Given the description of an element on the screen output the (x, y) to click on. 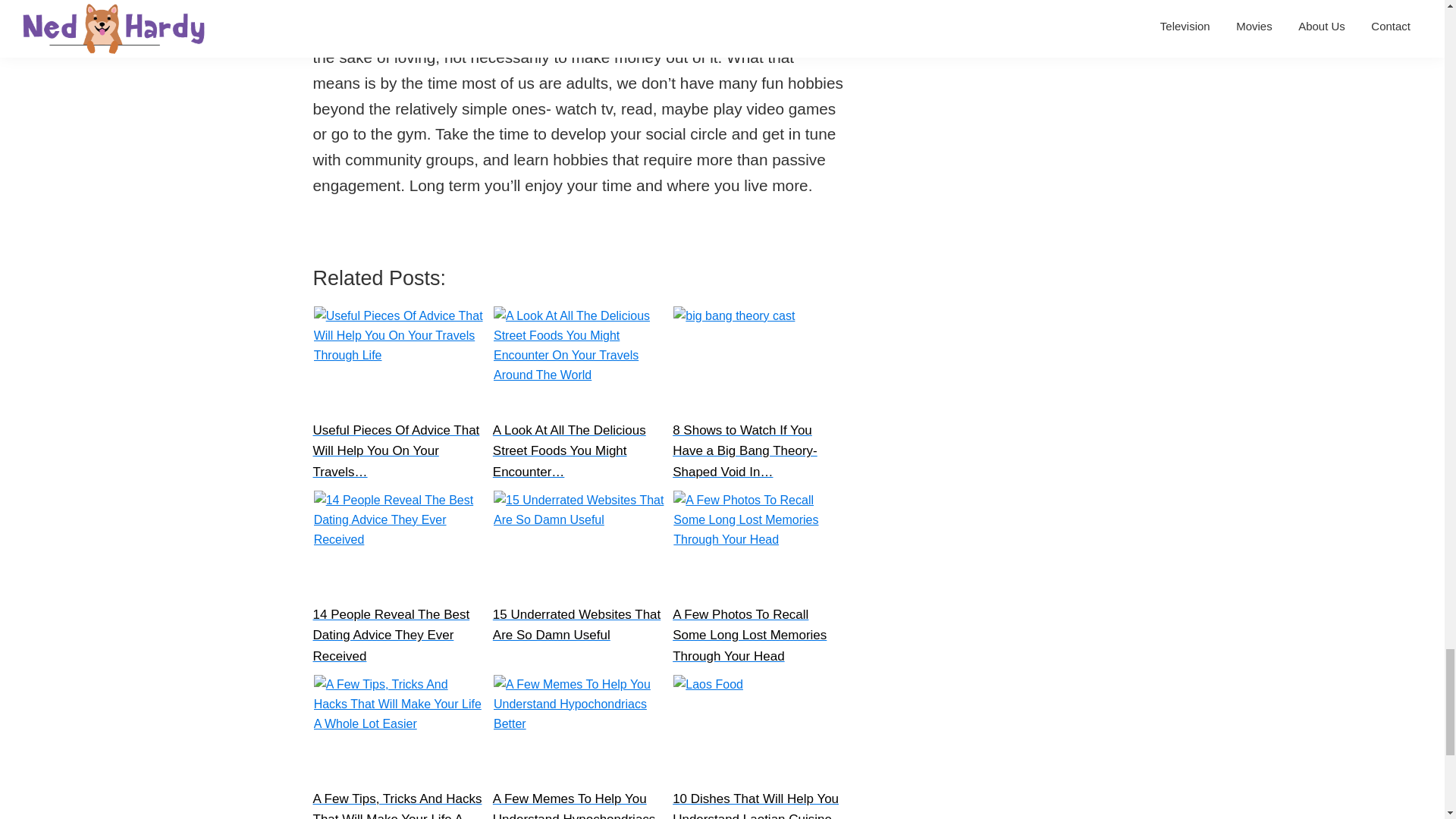
A Few Memes To Help You Understand Hypochondriacs Better (579, 746)
15 Underrated Websites That Are So Damn Useful (579, 578)
A Few Memes To Help You Understand Hypochondriacs Better (578, 731)
